Given the description of an element on the screen output the (x, y) to click on. 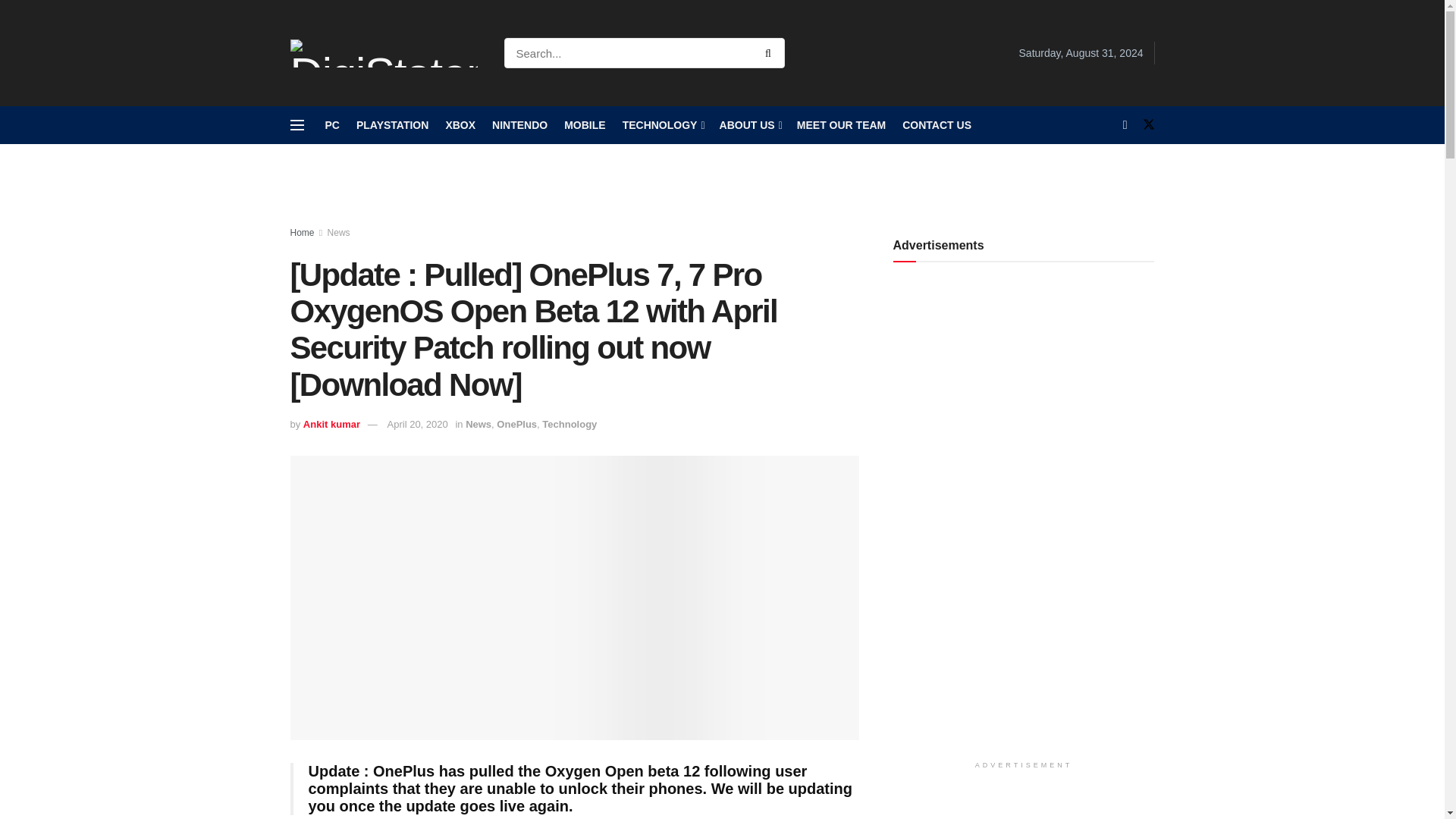
PLAYSTATION (392, 125)
CONTACT US (936, 125)
TECHNOLOGY (663, 125)
NINTENDO (519, 125)
MEET OUR TEAM (840, 125)
MOBILE (584, 125)
ABOUT US (749, 125)
